Given the description of an element on the screen output the (x, y) to click on. 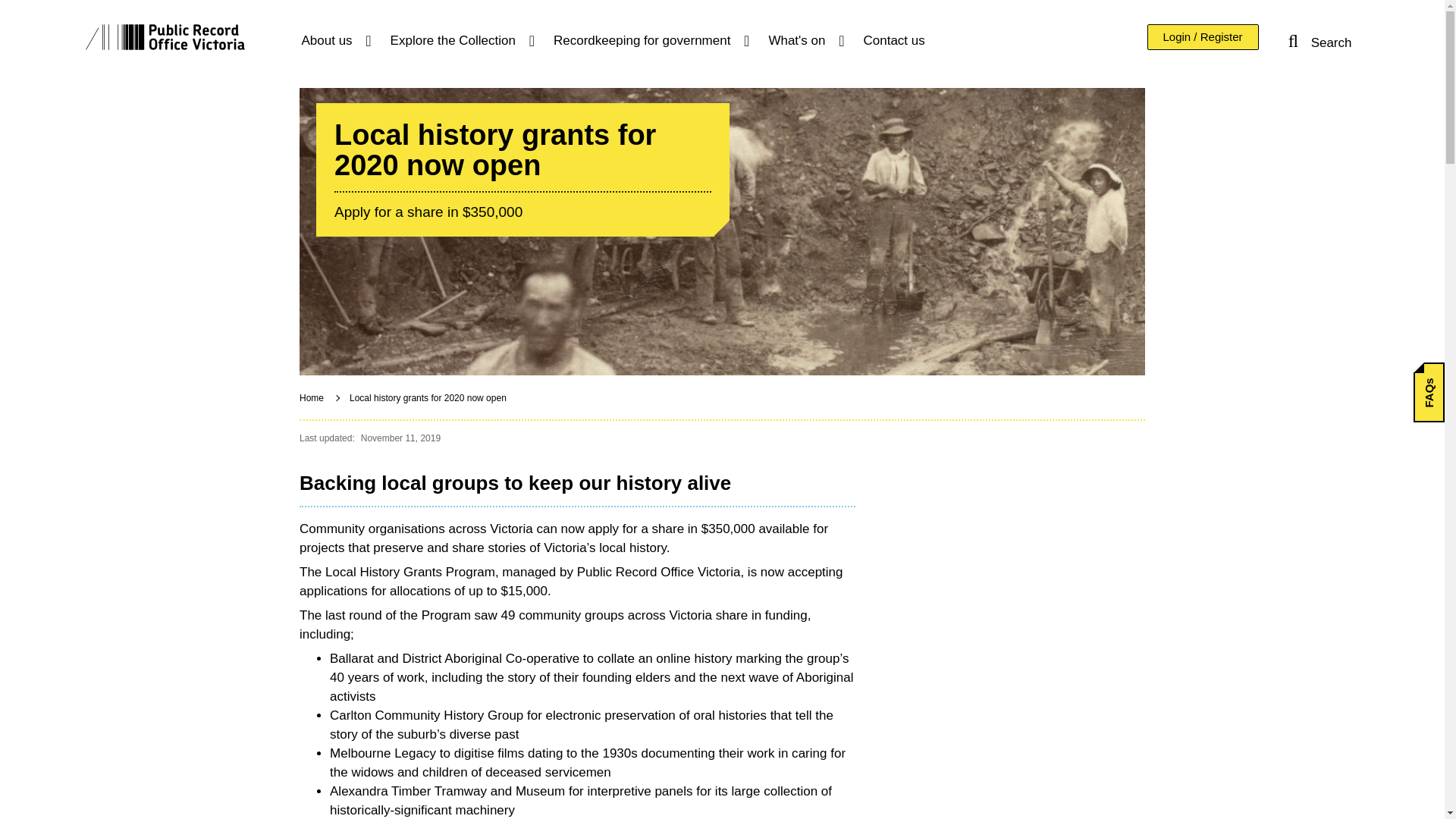
About us (333, 40)
Explore the Collection (459, 40)
Home (164, 35)
Information management and recordkeeping for government (649, 40)
Recordkeeping for government (649, 40)
